Given the description of an element on the screen output the (x, y) to click on. 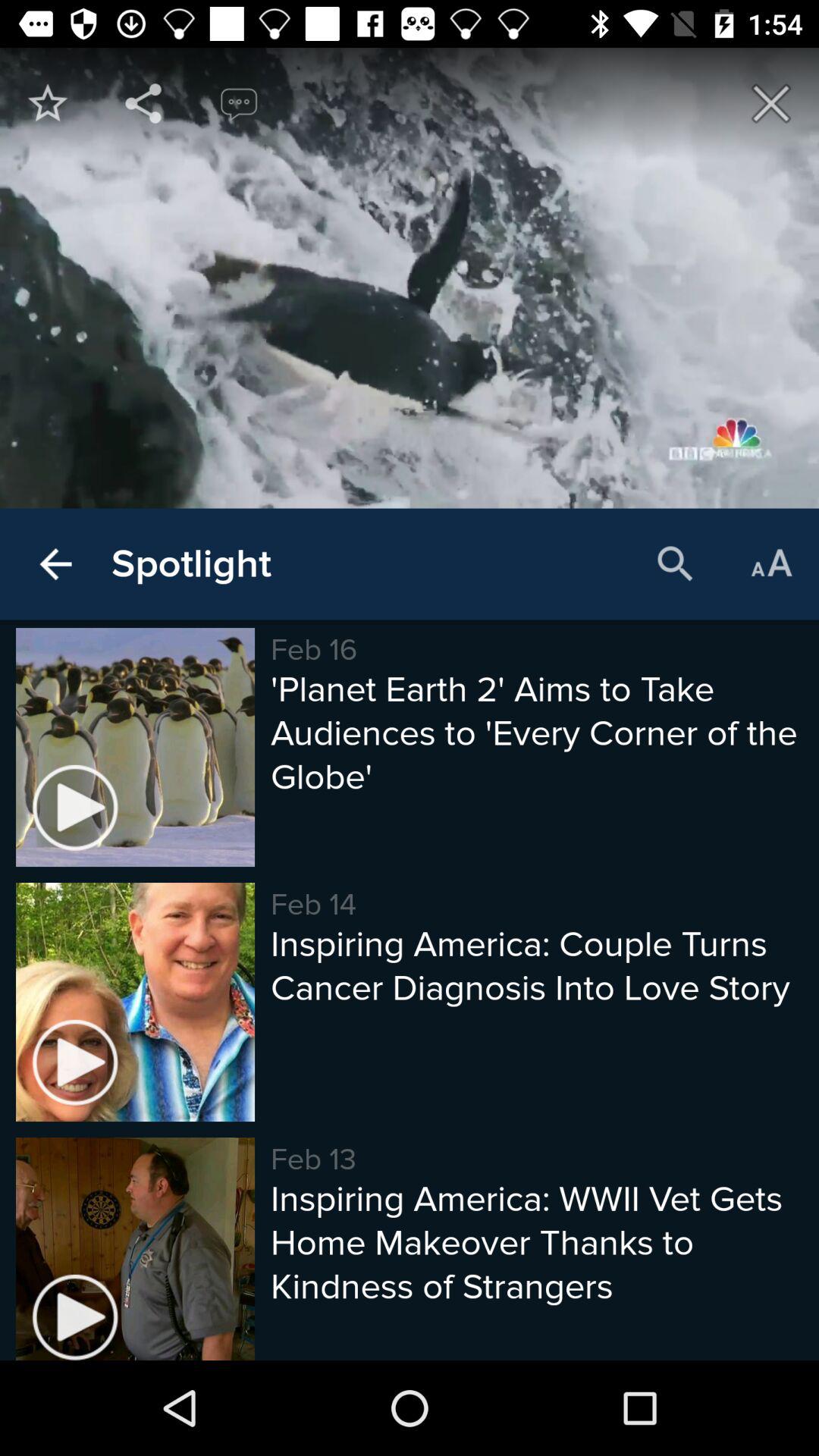
share on some other platform (143, 103)
